Given the description of an element on the screen output the (x, y) to click on. 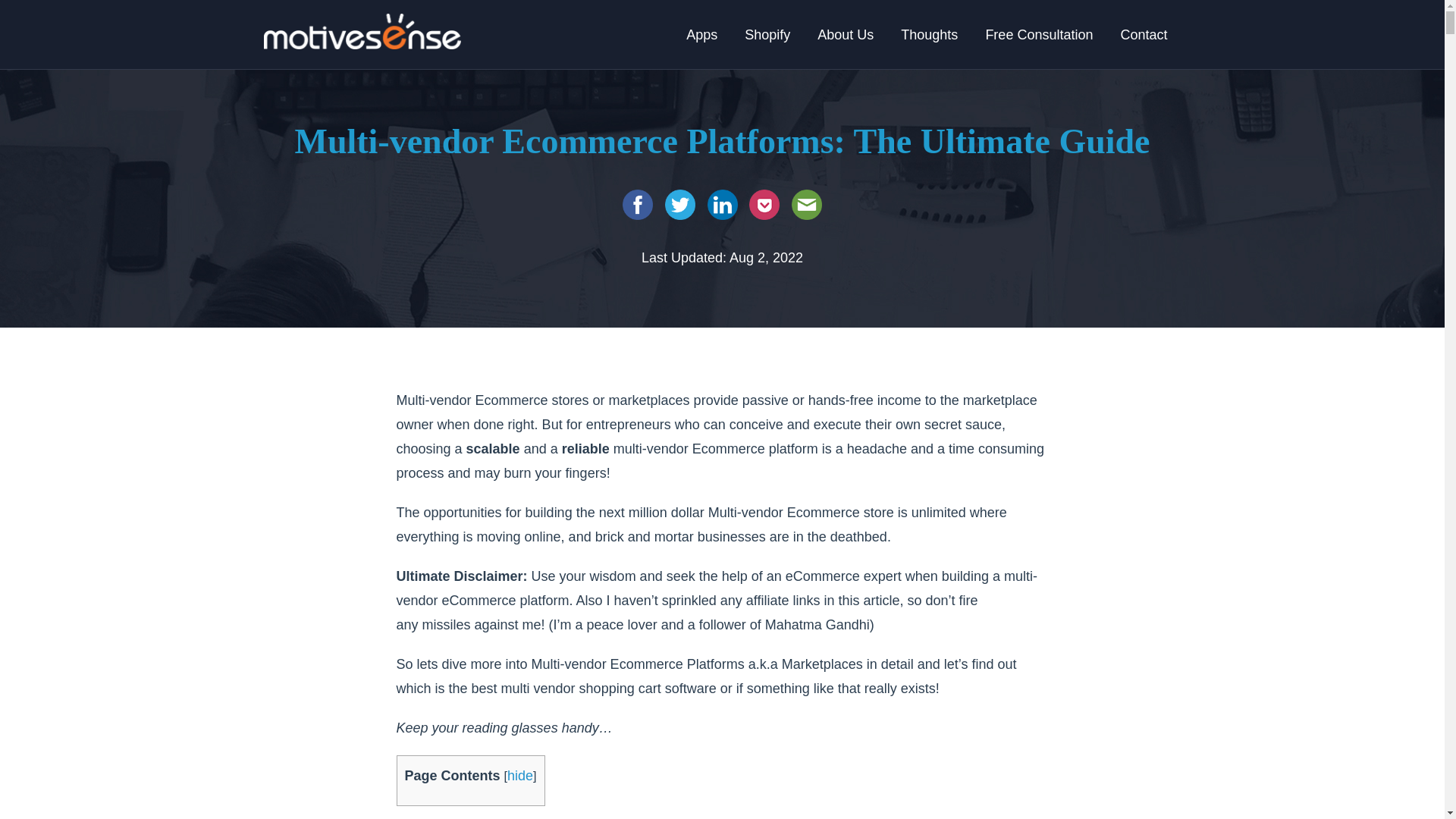
Free Consultation (1038, 34)
Contact (1143, 34)
Tweet this (680, 204)
About Us (844, 34)
Shopify (766, 34)
Save to Pocket (763, 204)
Email to your friend (807, 204)
Share this on FB (637, 204)
Thoughts (928, 34)
Share via LinkedIn (721, 204)
